Given the description of an element on the screen output the (x, y) to click on. 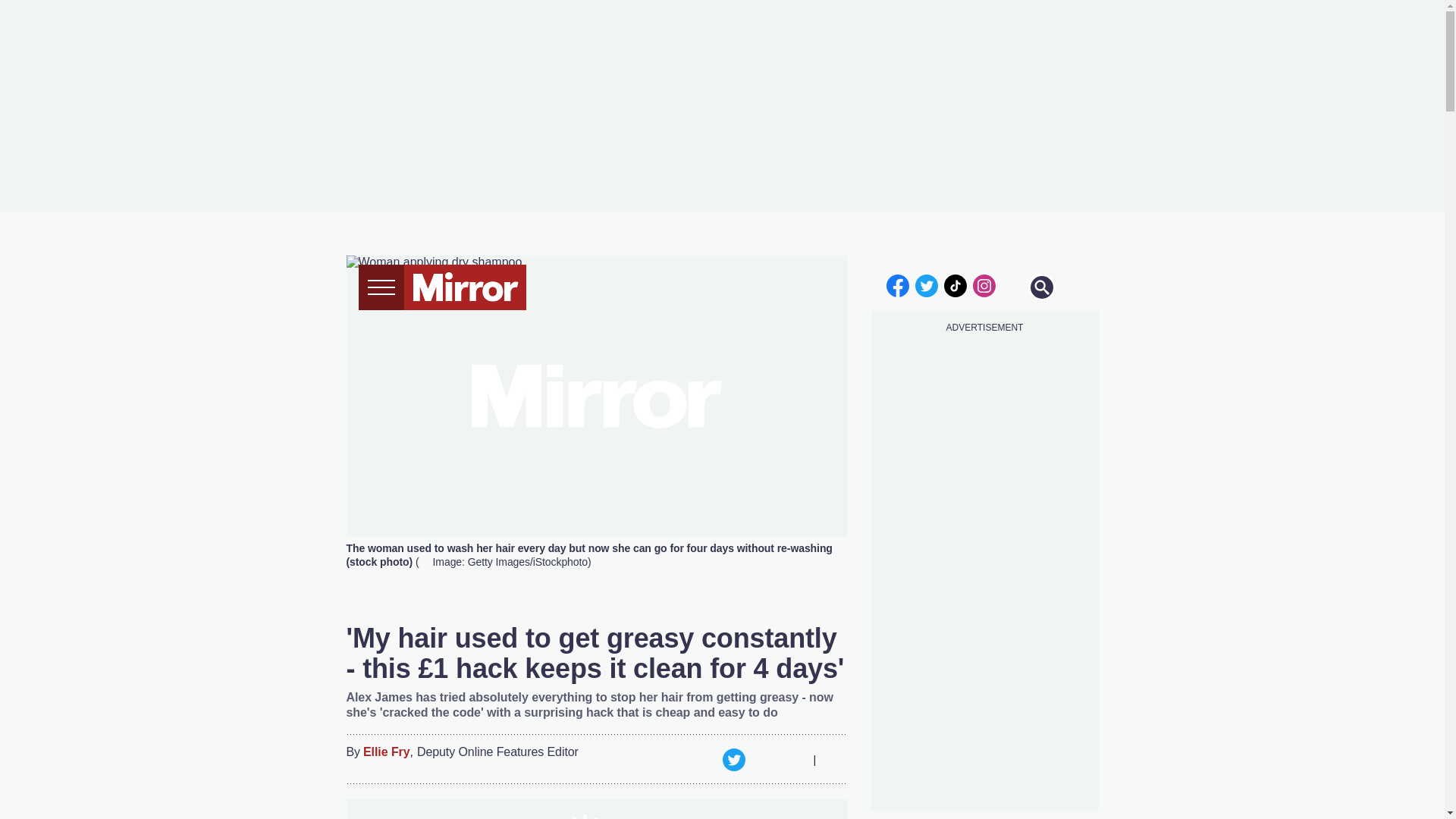
twitter (926, 285)
Ellie Fry (386, 752)
facebook (897, 285)
Facebook (702, 759)
snapchat (1012, 285)
instagram (984, 285)
tiktok (955, 285)
Whatsapp (763, 759)
Twitter (733, 759)
Comments (834, 759)
